Given the description of an element on the screen output the (x, y) to click on. 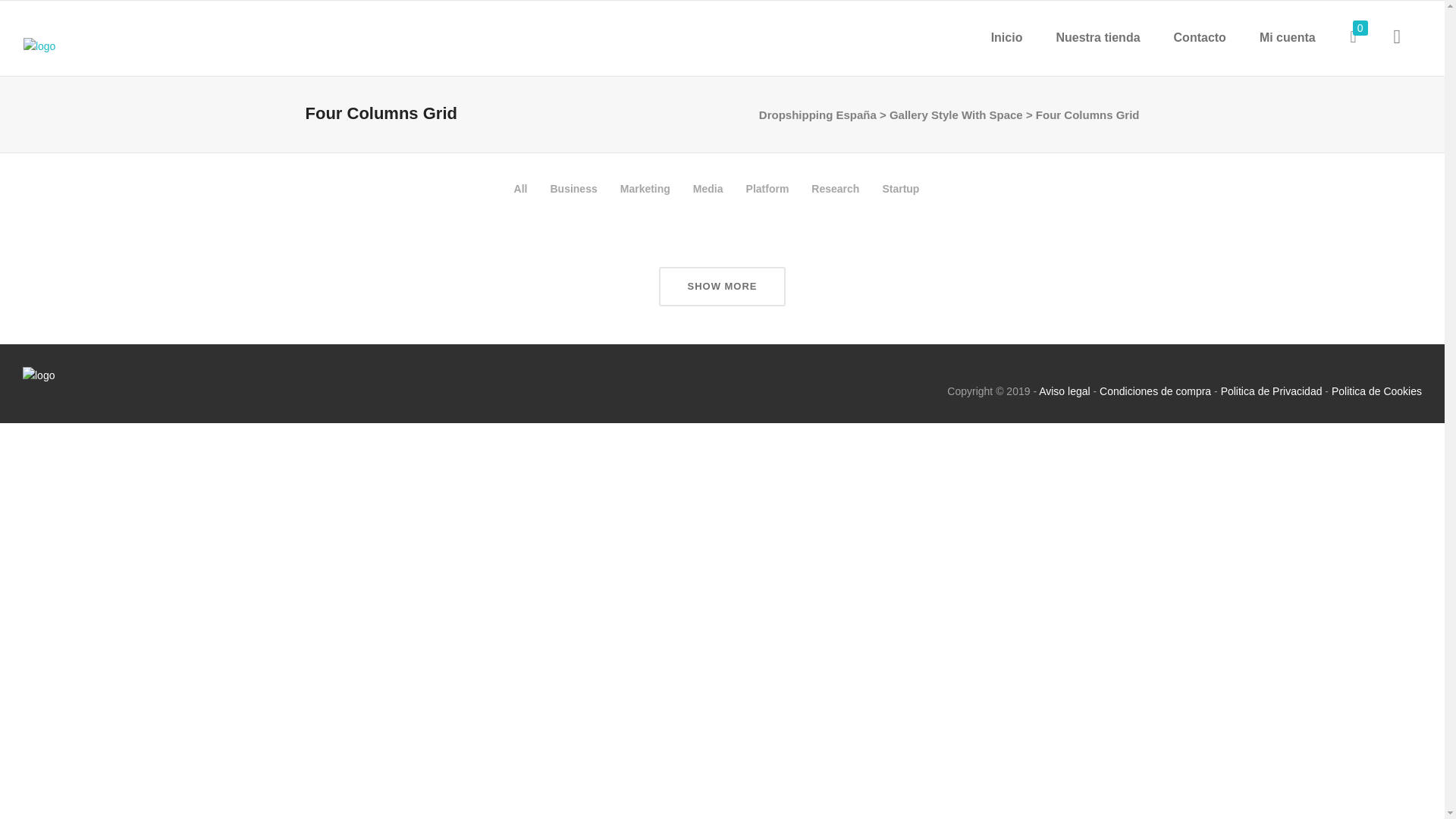
Gallery Style With Space (956, 115)
0 (1353, 36)
Nuestra tienda (1097, 38)
Mi cuenta (1287, 38)
Contacto (1199, 38)
